Given the description of an element on the screen output the (x, y) to click on. 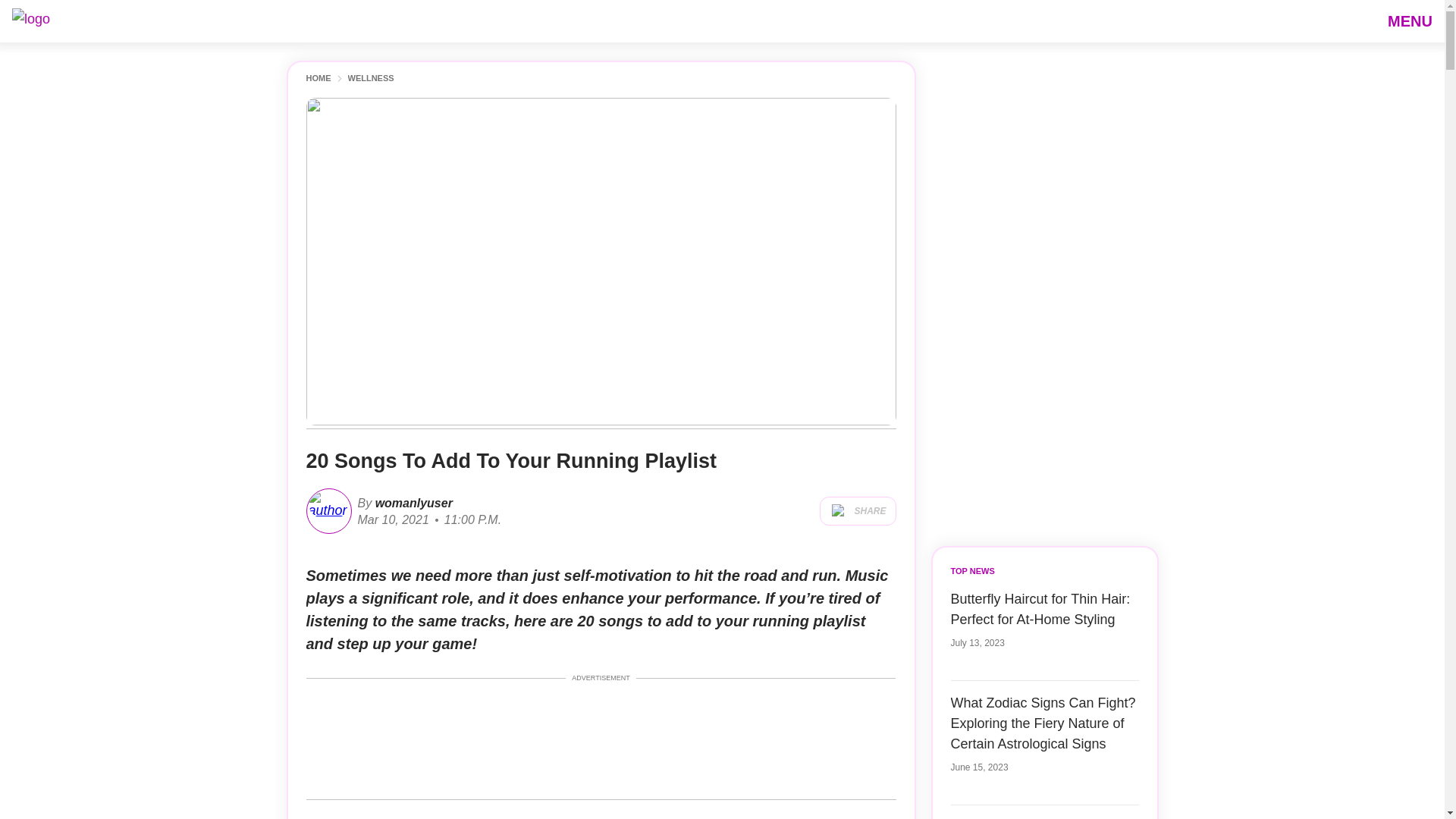
womanlyuser (411, 502)
SHARE (857, 510)
MENU (1409, 20)
HOME (318, 78)
WELLNESS (370, 78)
